Given the description of an element on the screen output the (x, y) to click on. 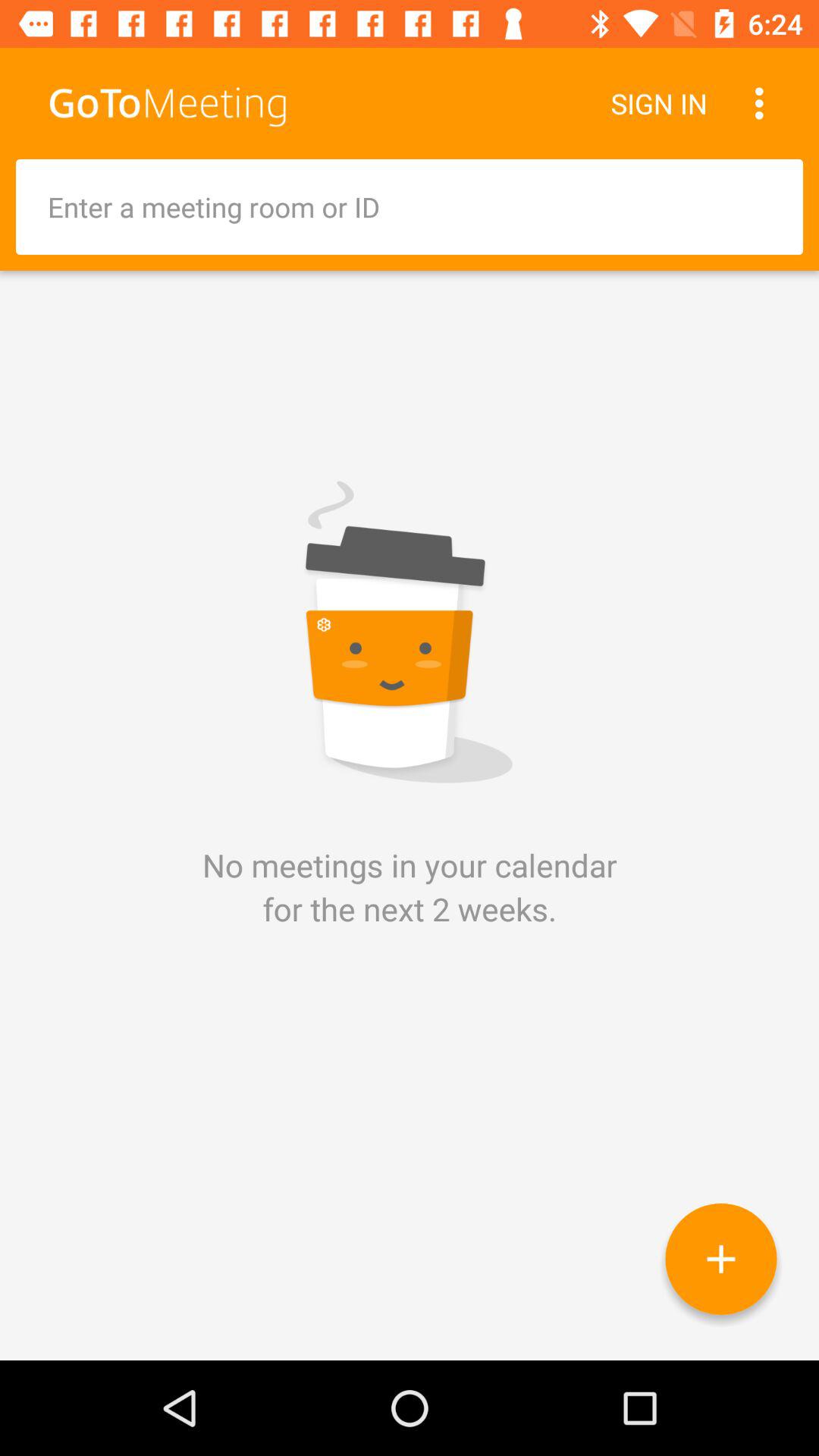
add meeting (720, 1258)
